Given the description of an element on the screen output the (x, y) to click on. 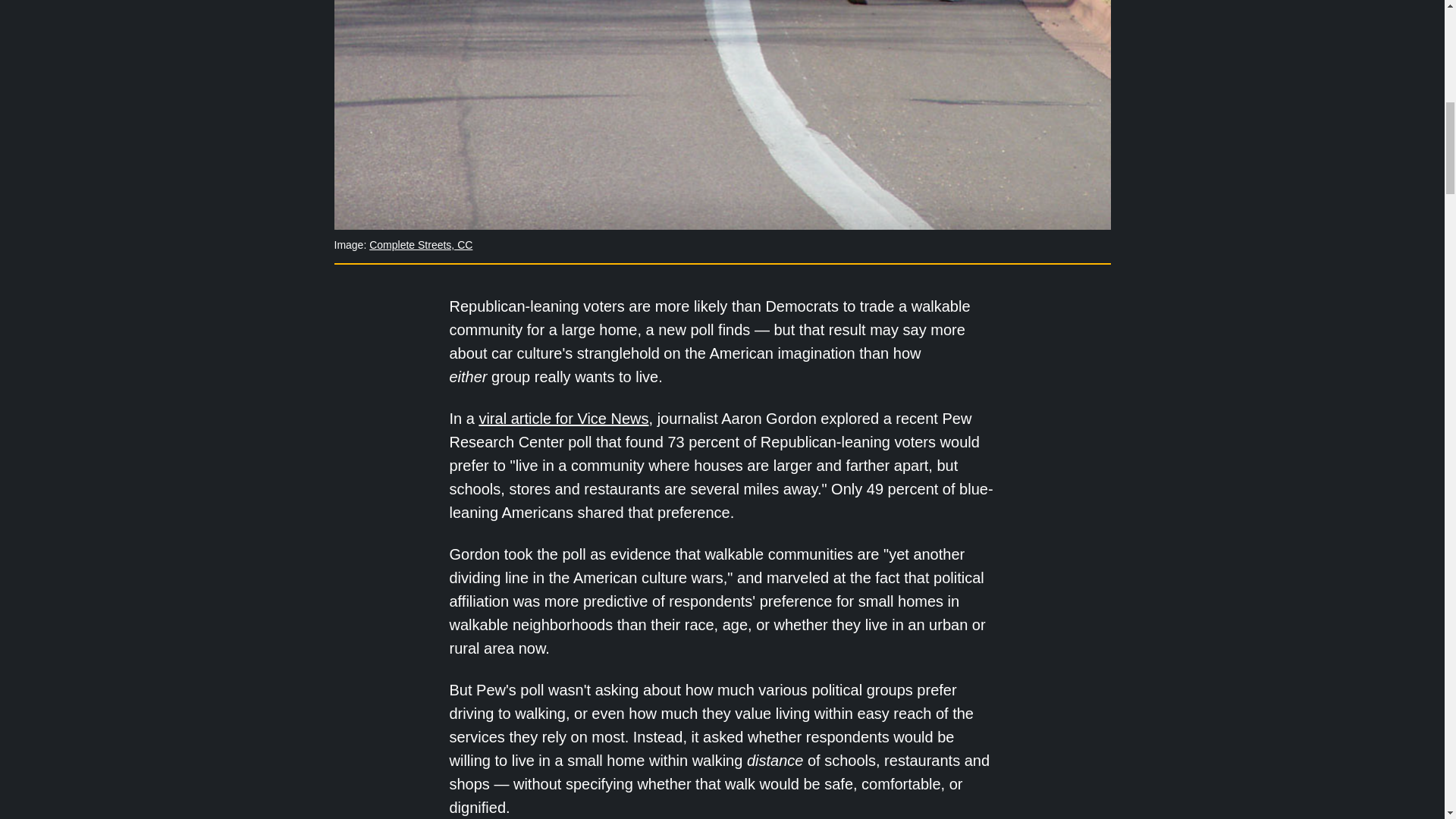
Complete Streets, CC (420, 244)
viral article for Vice News (563, 418)
